Given the description of an element on the screen output the (x, y) to click on. 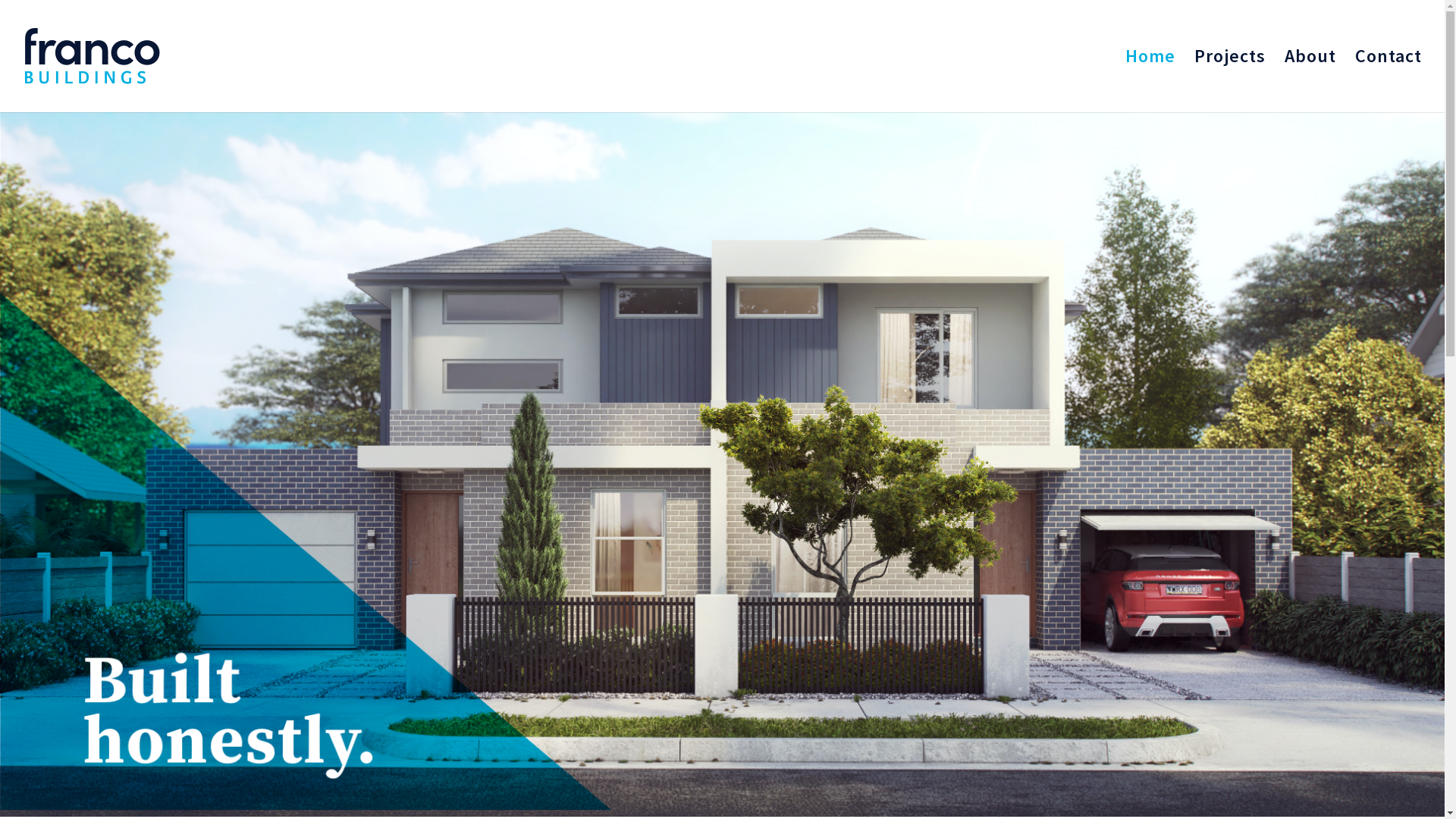
Home Element type: text (1150, 81)
Contact Element type: text (1388, 81)
Projects Element type: text (1229, 81)
About Element type: text (1310, 81)
Group 54 Element type: hover (722, 461)
